Given the description of an element on the screen output the (x, y) to click on. 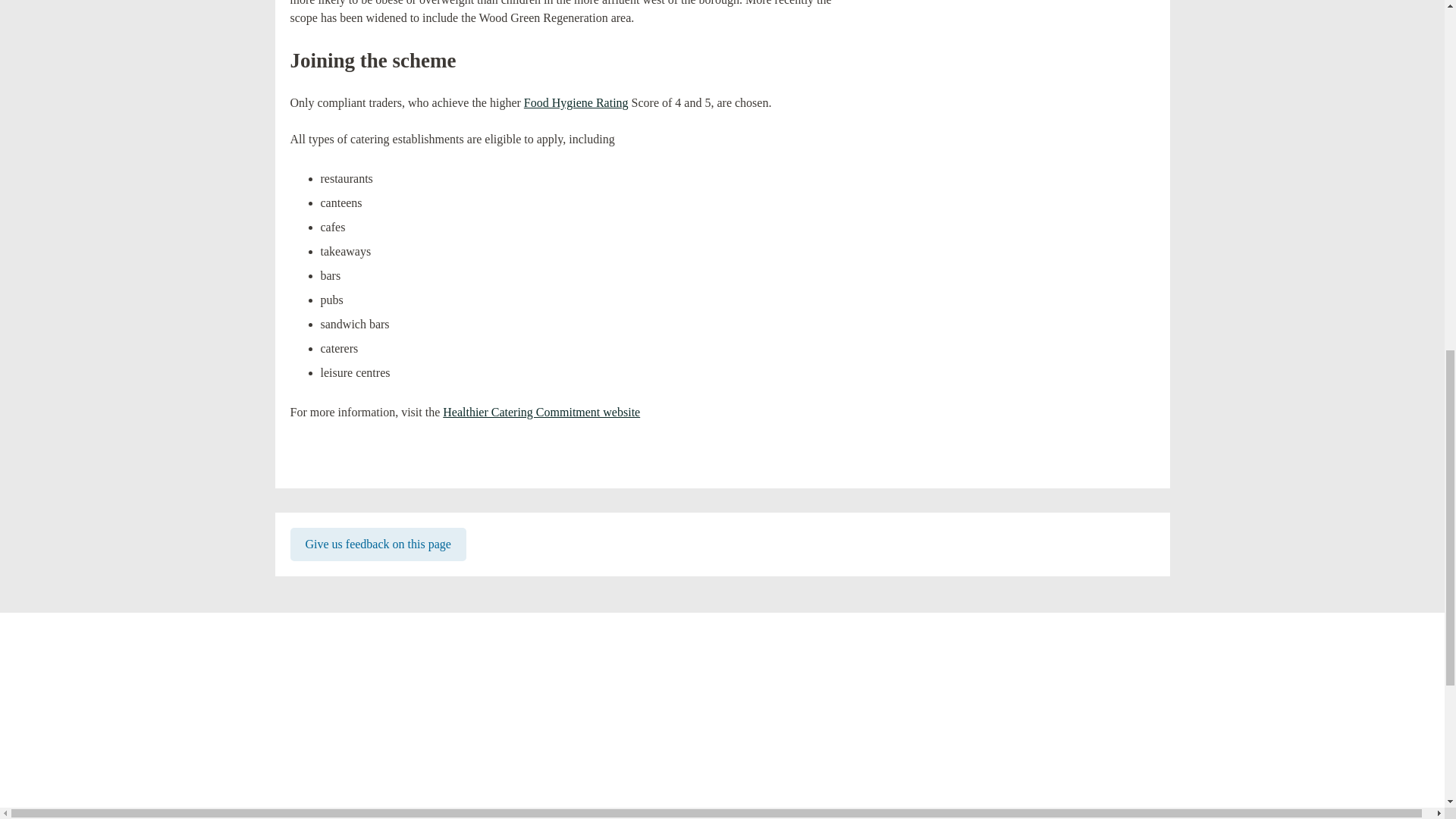
Food hygiene for your business (576, 102)
Food Hygiene Rating (576, 102)
Healthier Catering Commitment website (547, 411)
Give us feedback on this page (377, 544)
